Given the description of an element on the screen output the (x, y) to click on. 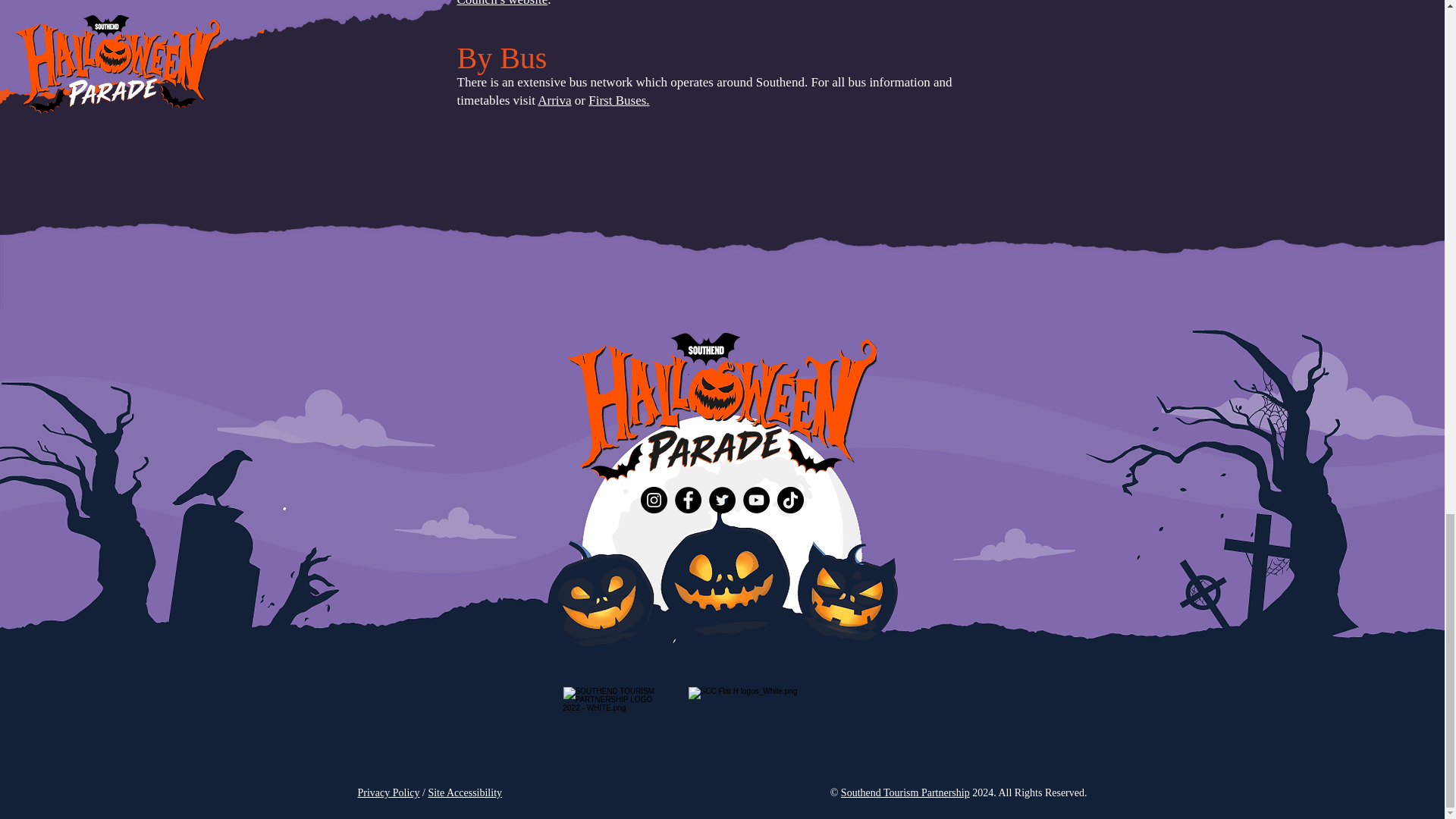
First Buses. (618, 100)
Click here to visit Southend City Council's website (704, 3)
Privacy Policy (389, 792)
Arriva (553, 100)
Site Accessibility (465, 792)
Southend Tourism Partnership (905, 792)
